Given the description of an element on the screen output the (x, y) to click on. 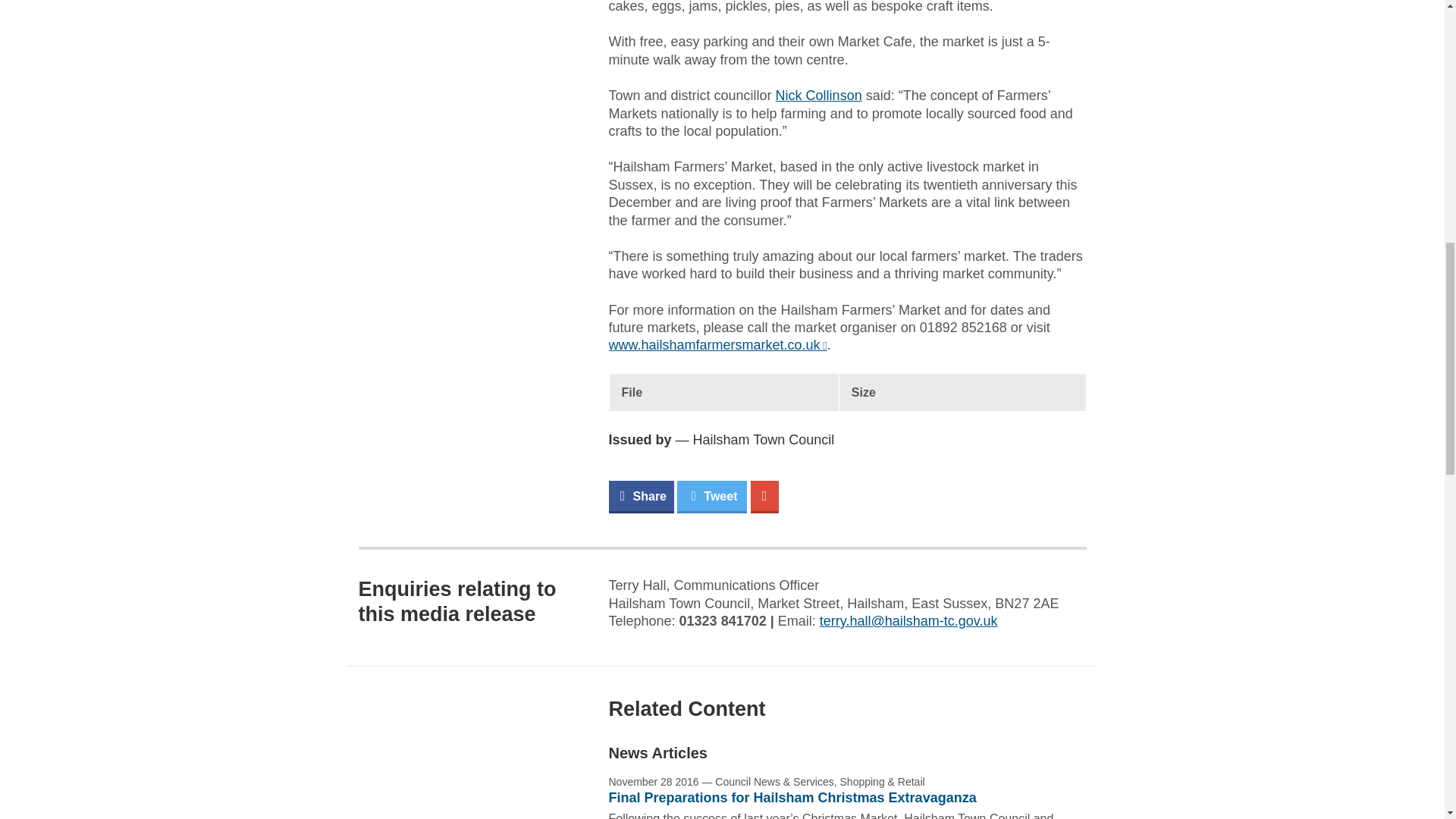
Tweet (711, 496)
Share (640, 496)
Final Preparations for Hailsham Christmas Extravaganza (791, 797)
www.hailshamfarmersmarket.co.uk (717, 344)
Nick Collinson (818, 95)
